Given the description of an element on the screen output the (x, y) to click on. 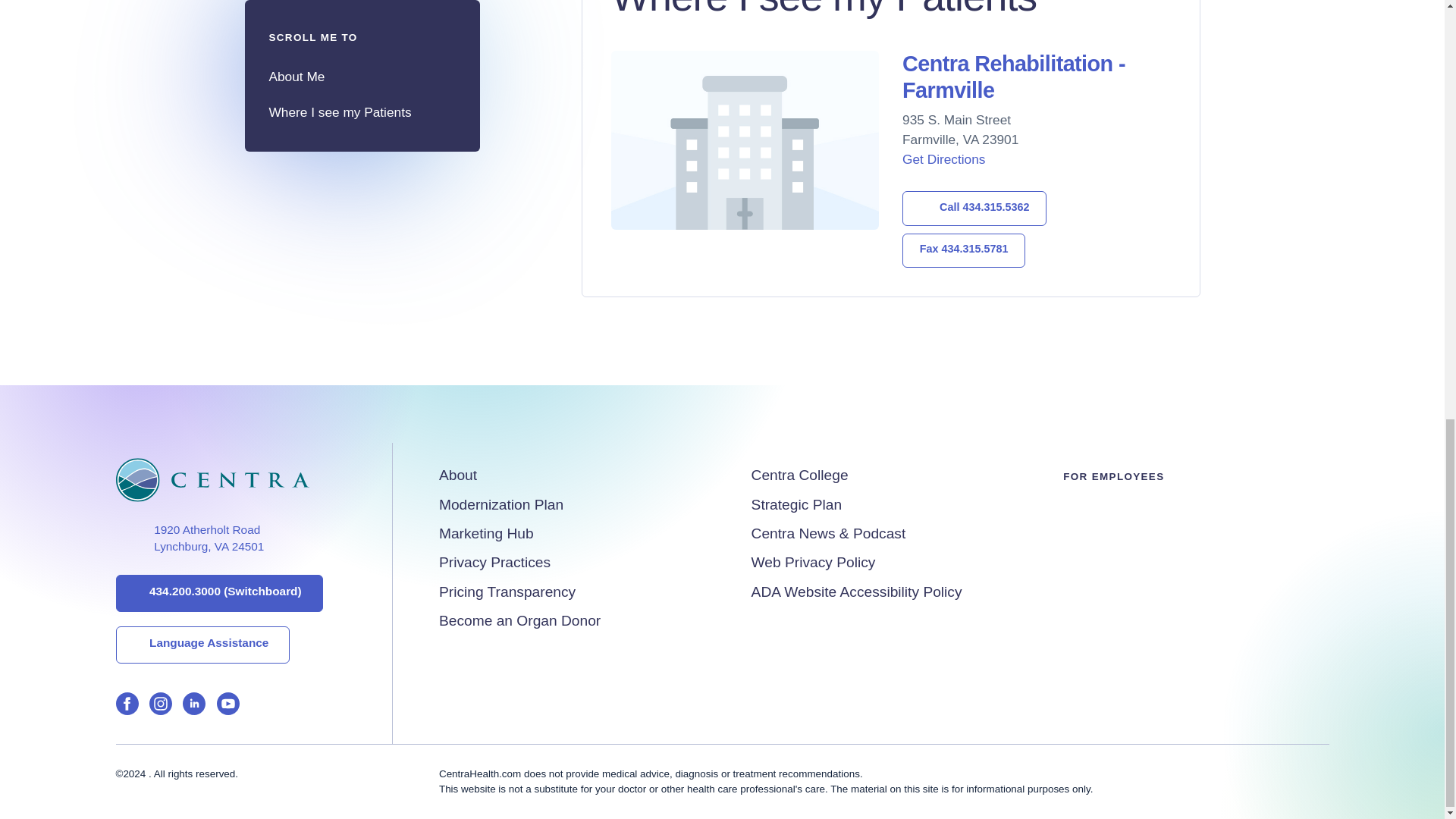
About (458, 475)
Youtube (228, 706)
Get Directions (943, 159)
Instagram (189, 538)
Facebook (160, 706)
Strategic Plan (126, 706)
Marketing Hub (796, 504)
Modernization Plan (486, 533)
Fax 434.315.5781 (501, 504)
Centra College (963, 250)
Centra Rehabilitation - Farmville (799, 475)
LinkedIn (1013, 76)
Language Assistance (194, 706)
Call 434.315.5362 (202, 644)
